Given the description of an element on the screen output the (x, y) to click on. 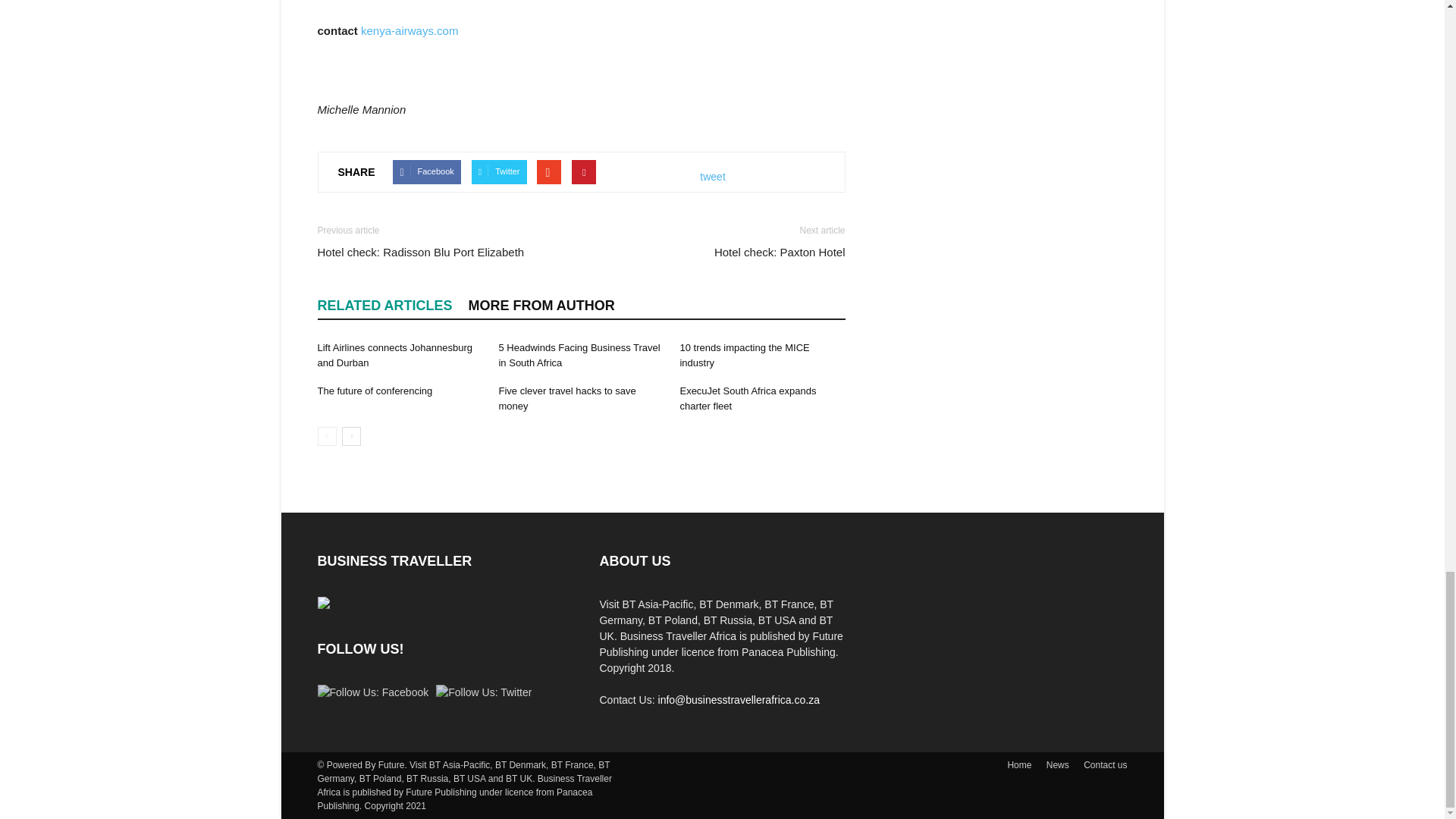
10 trends impacting the MICE industry (744, 355)
The future of conferencing (374, 390)
Lift Airlines connects Johannesburg and Durban (394, 355)
Five clever travel hacks to save money (565, 397)
ExecuJet South Africa expands charter fleet (747, 397)
Follow Us: Facebook (372, 692)
5 Headwinds Facing Business Travel in South Africa (578, 355)
